Given the description of an element on the screen output the (x, y) to click on. 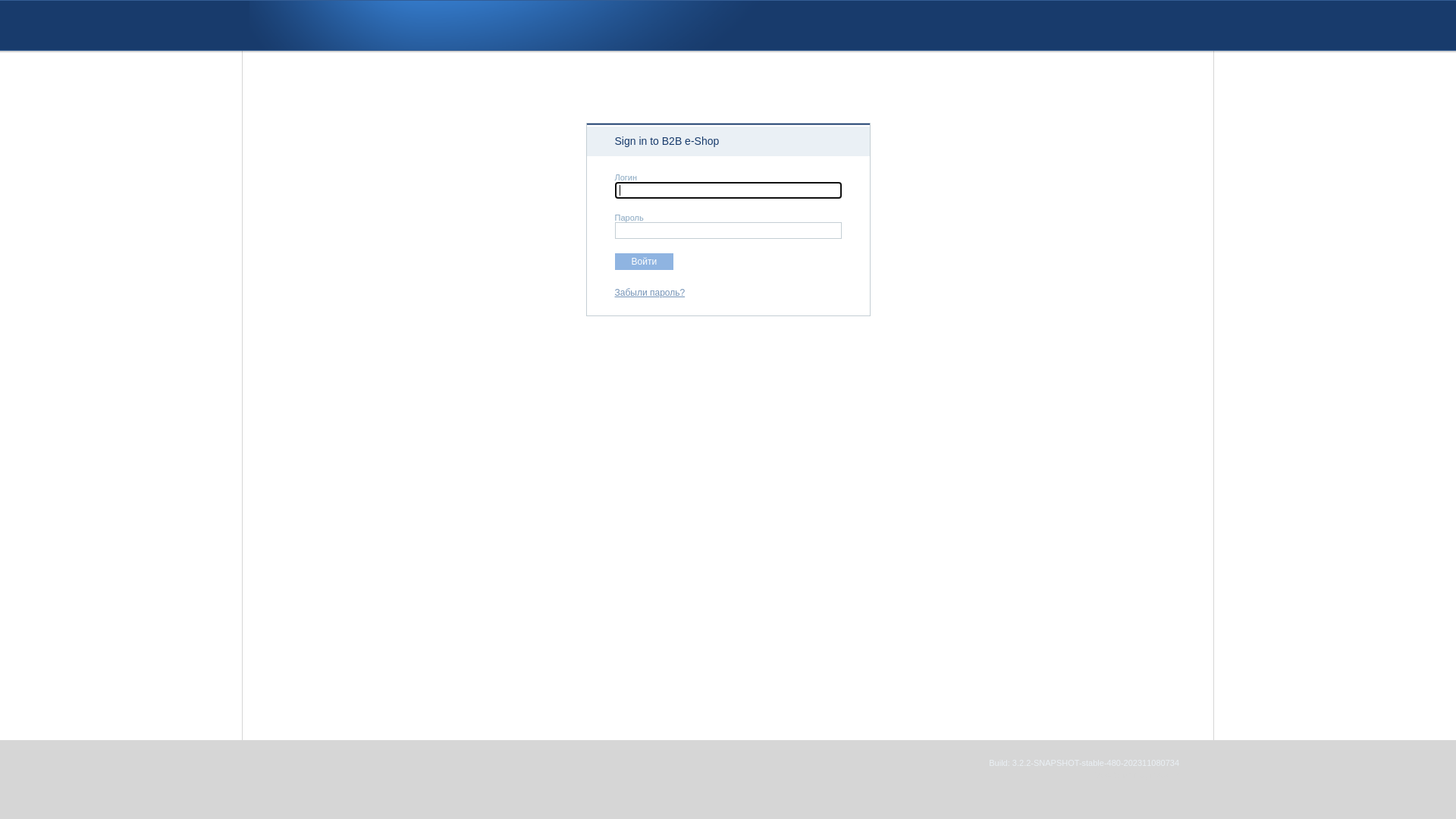
Execution time, msec: 7 Element type: text (1134, 774)
